Given the description of an element on the screen output the (x, y) to click on. 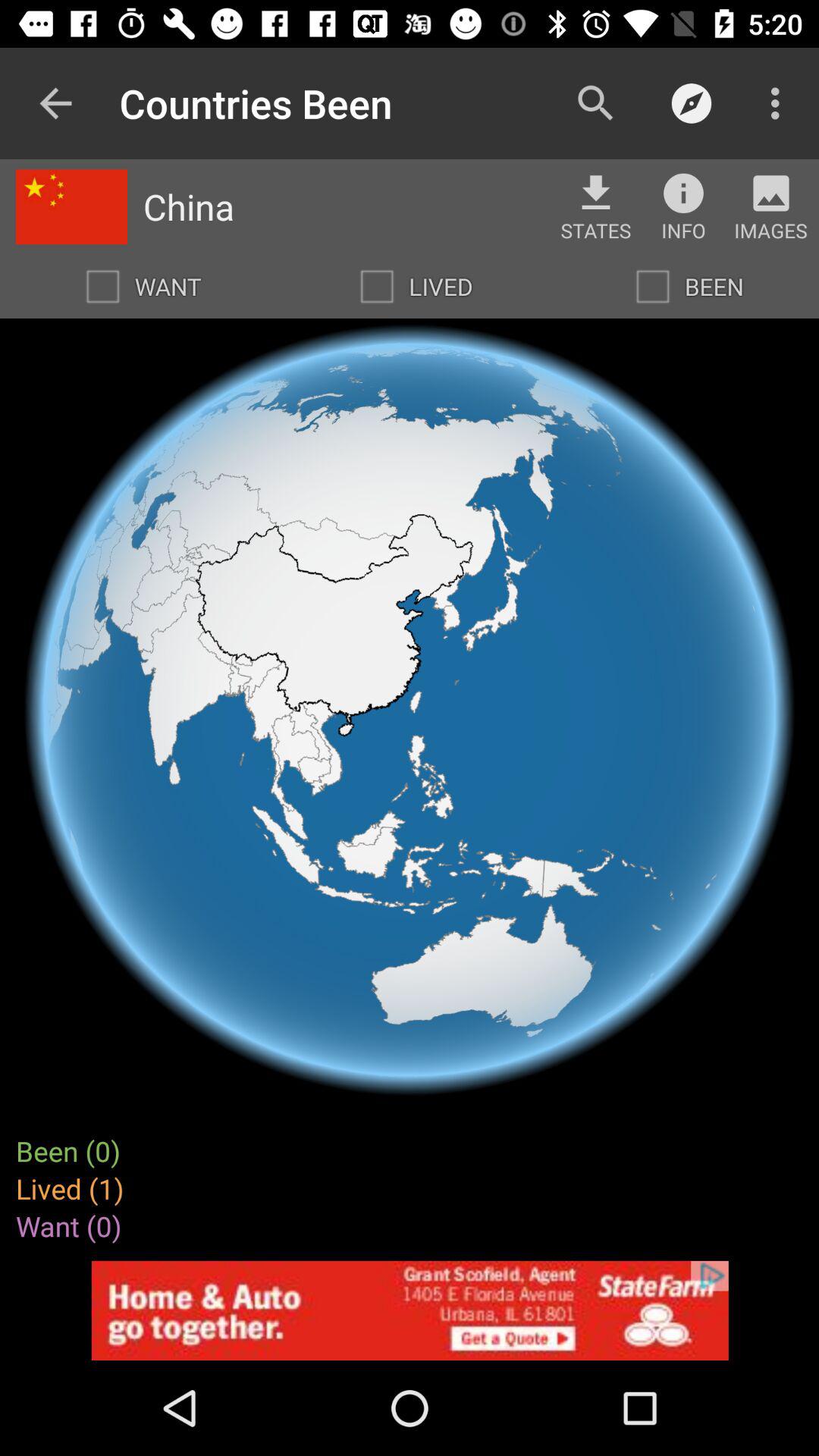
it 's a customized map of the world showing all of the countries and cities you 've visited (652, 286)
